Given the description of an element on the screen output the (x, y) to click on. 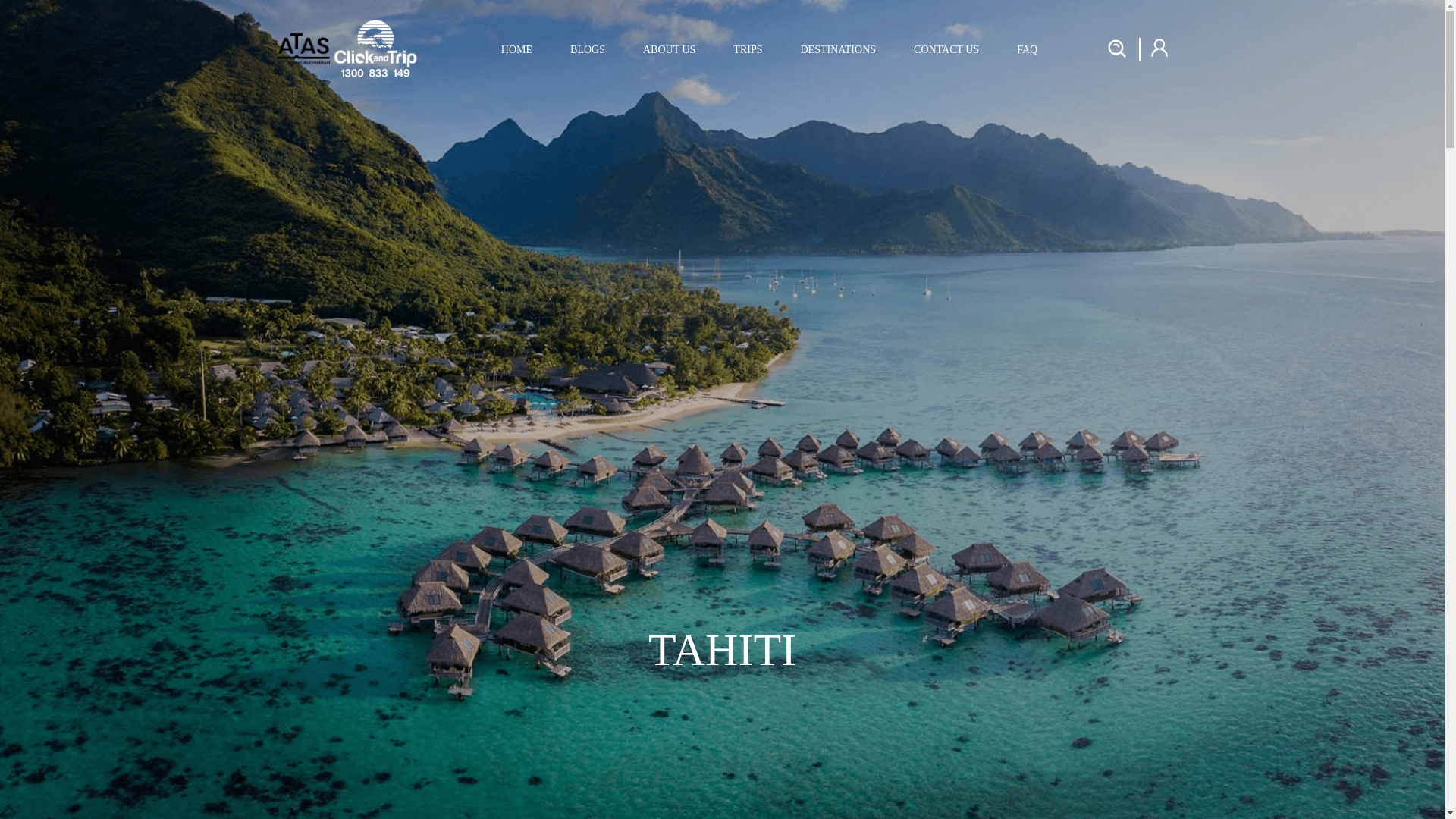
BLOGS (587, 49)
ABOUT US (669, 49)
CONTACT US (946, 49)
DESTINATIONS (837, 49)
